Given the description of an element on the screen output the (x, y) to click on. 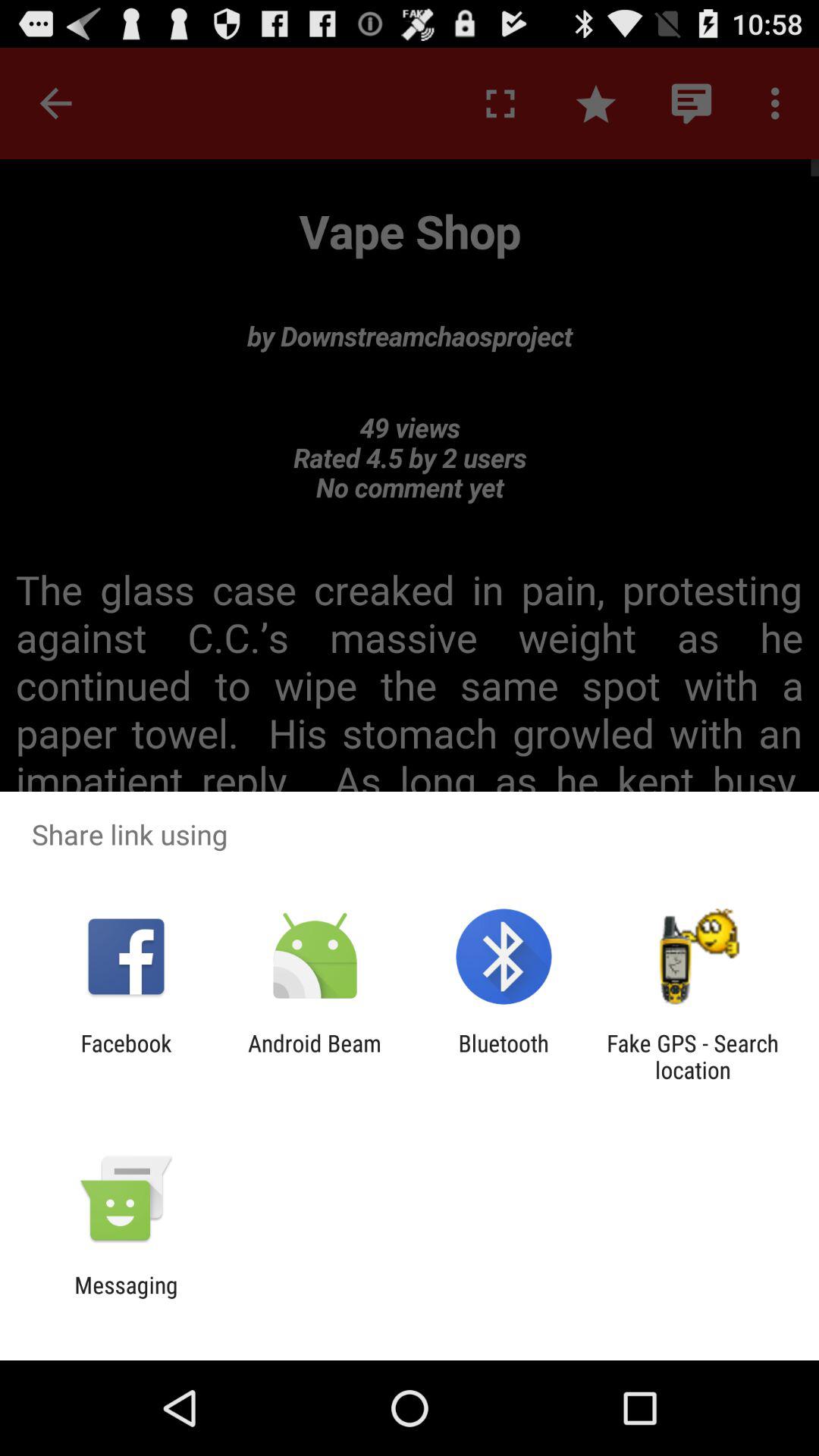
turn on bluetooth (503, 1056)
